Given the description of an element on the screen output the (x, y) to click on. 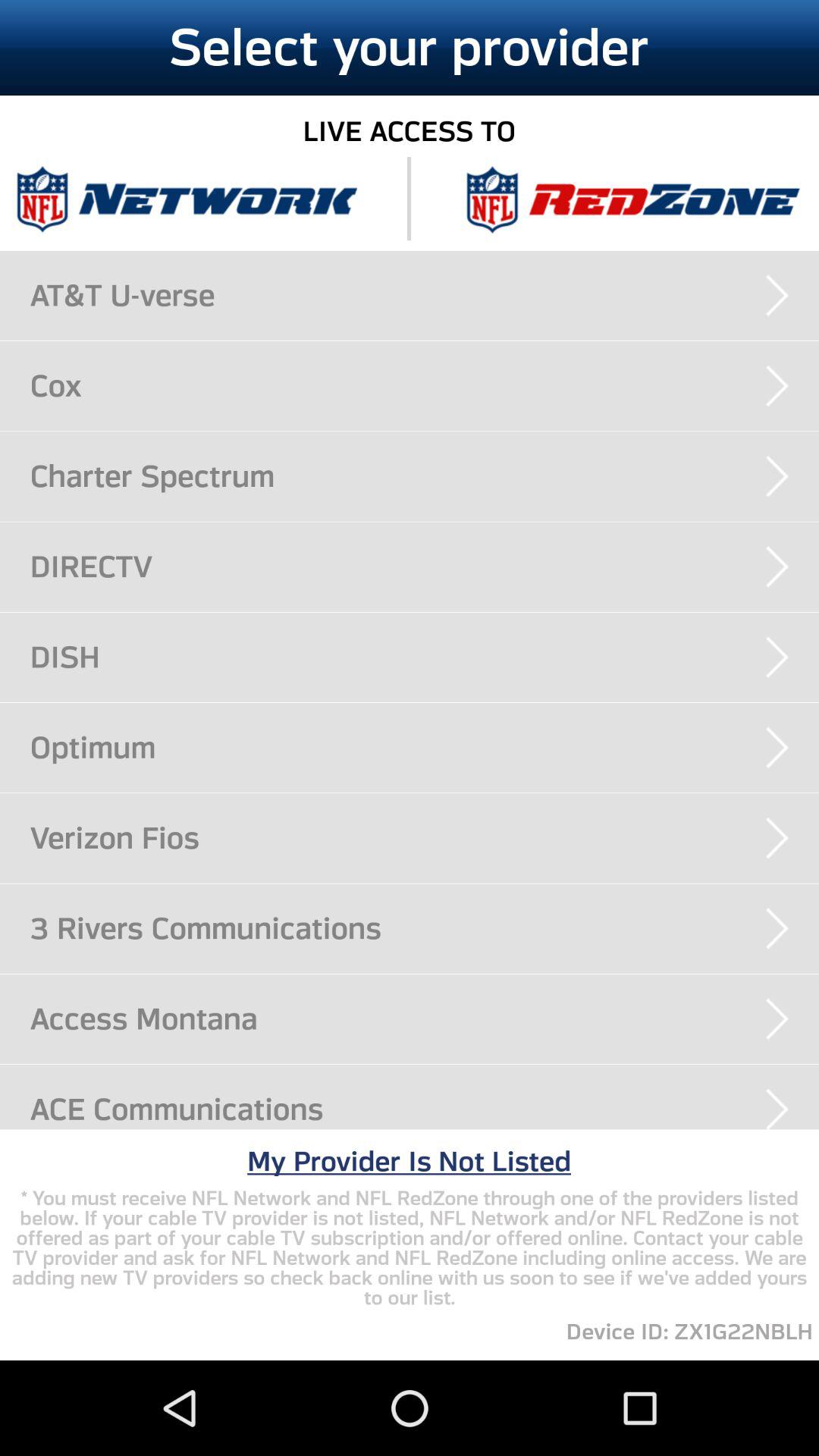
flip until dish icon (424, 656)
